Given the description of an element on the screen output the (x, y) to click on. 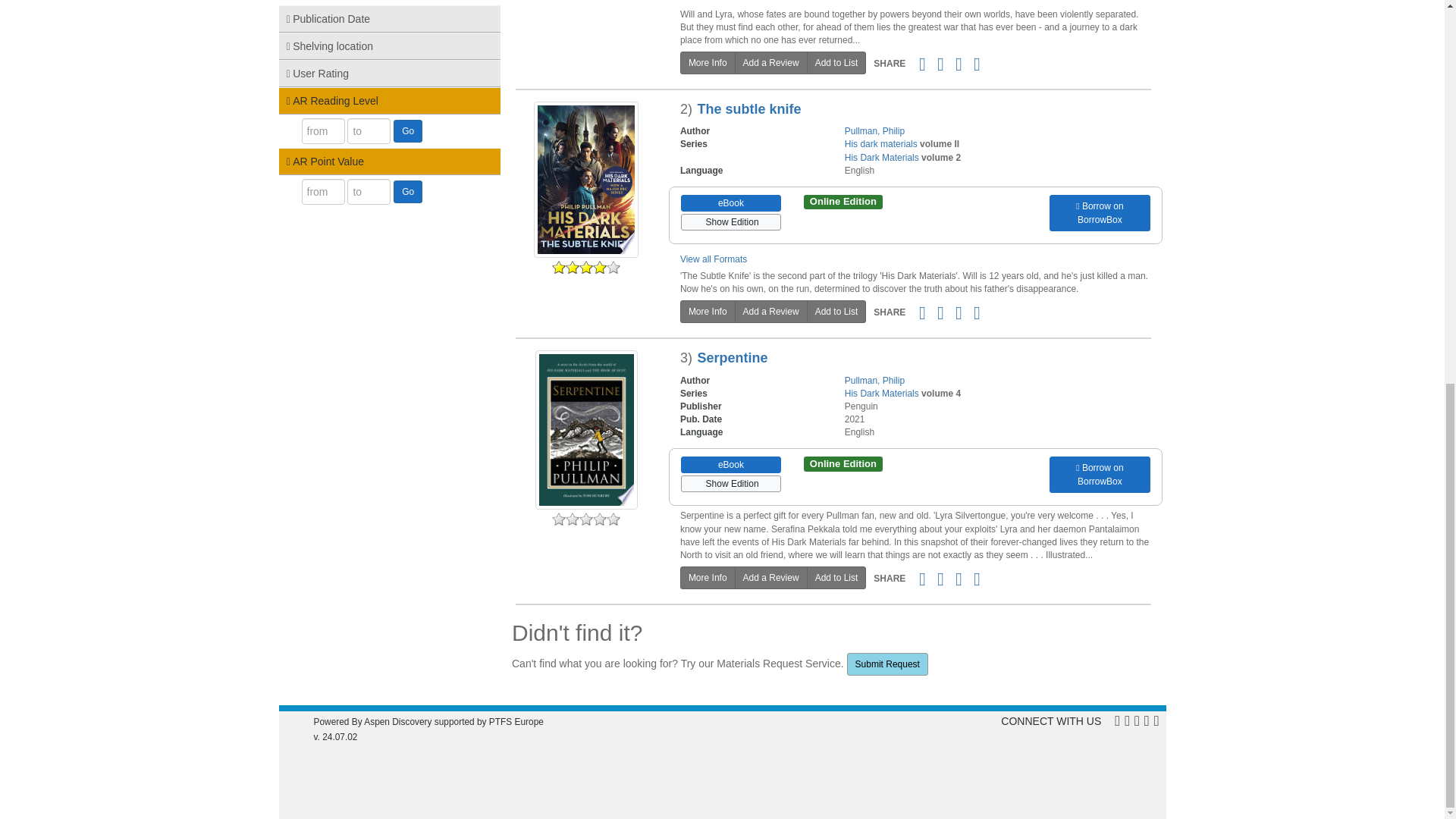
Go (407, 130)
Go (407, 130)
Go (407, 191)
